Given the description of an element on the screen output the (x, y) to click on. 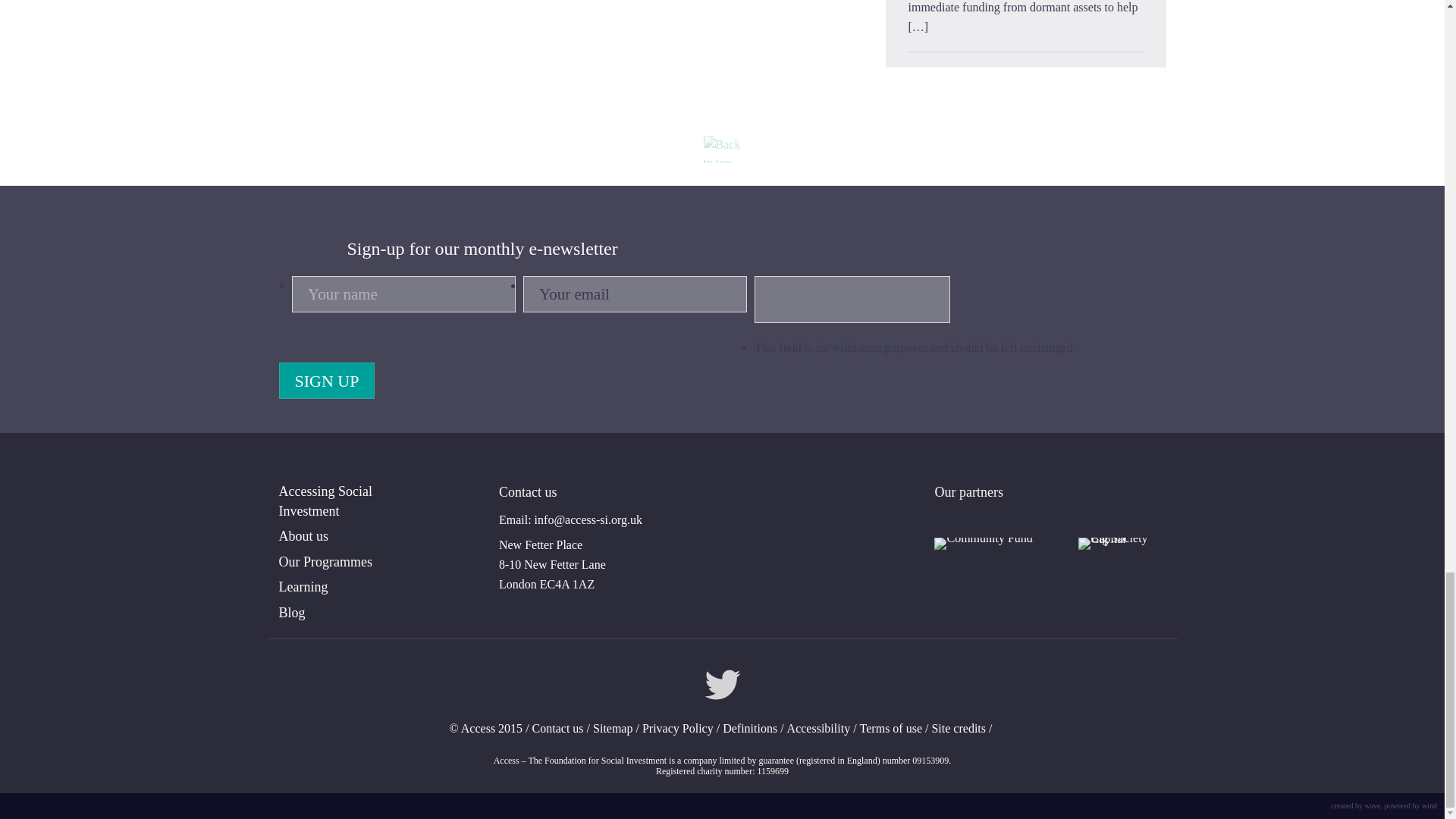
back to top (722, 148)
Your email (634, 294)
SIGN UP (327, 380)
Your name (403, 294)
